Given the description of an element on the screen output the (x, y) to click on. 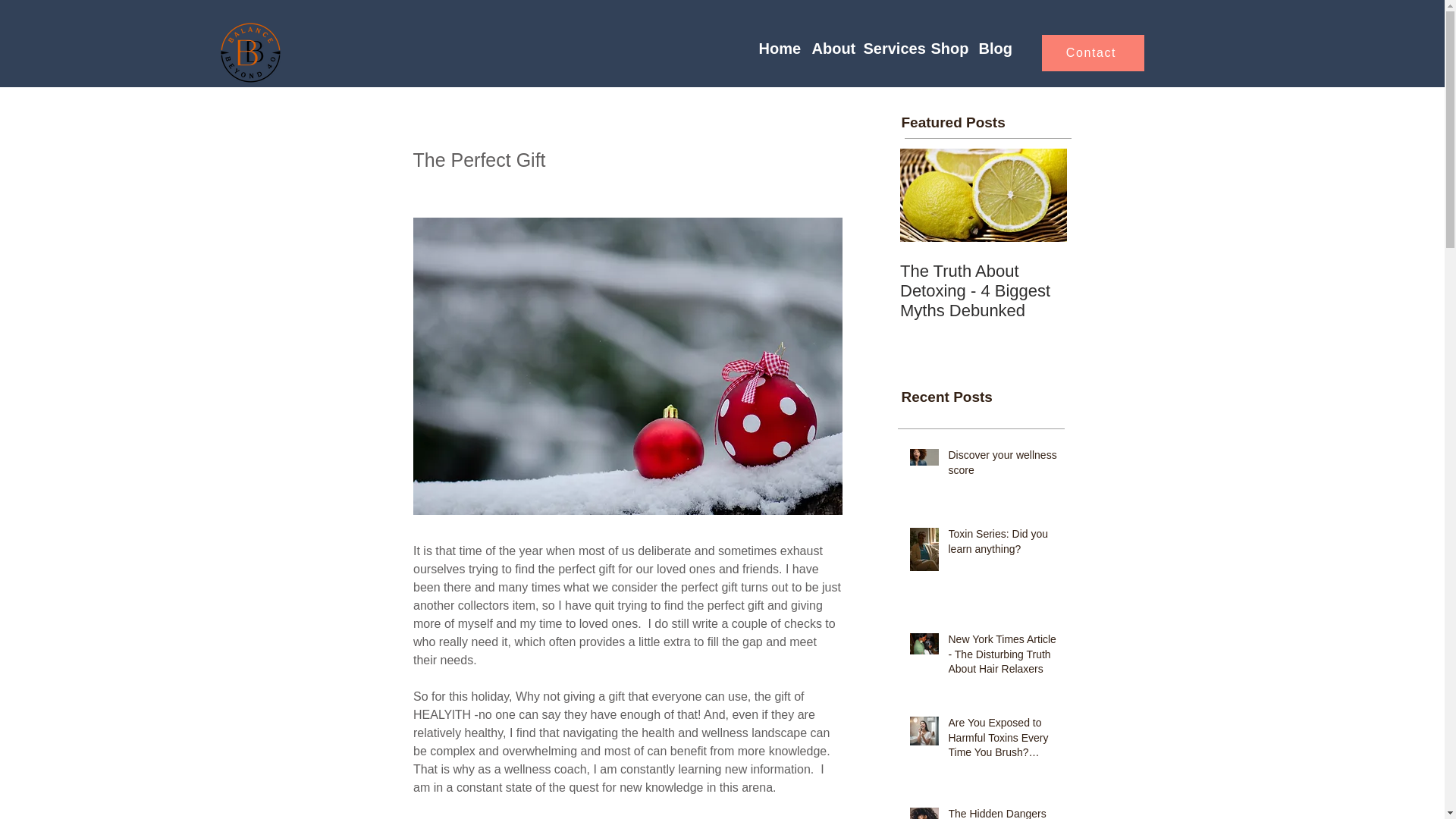
P4.jpg (250, 52)
Blog (992, 48)
About (829, 48)
Home (777, 48)
Contact (1093, 53)
Discover your wellness score (1002, 465)
Toxin Series: Did you learn anything?  (1002, 544)
Services (889, 48)
The Truth About Detoxing - 4 Biggest Myths Debunked (982, 291)
